Given the description of an element on the screen output the (x, y) to click on. 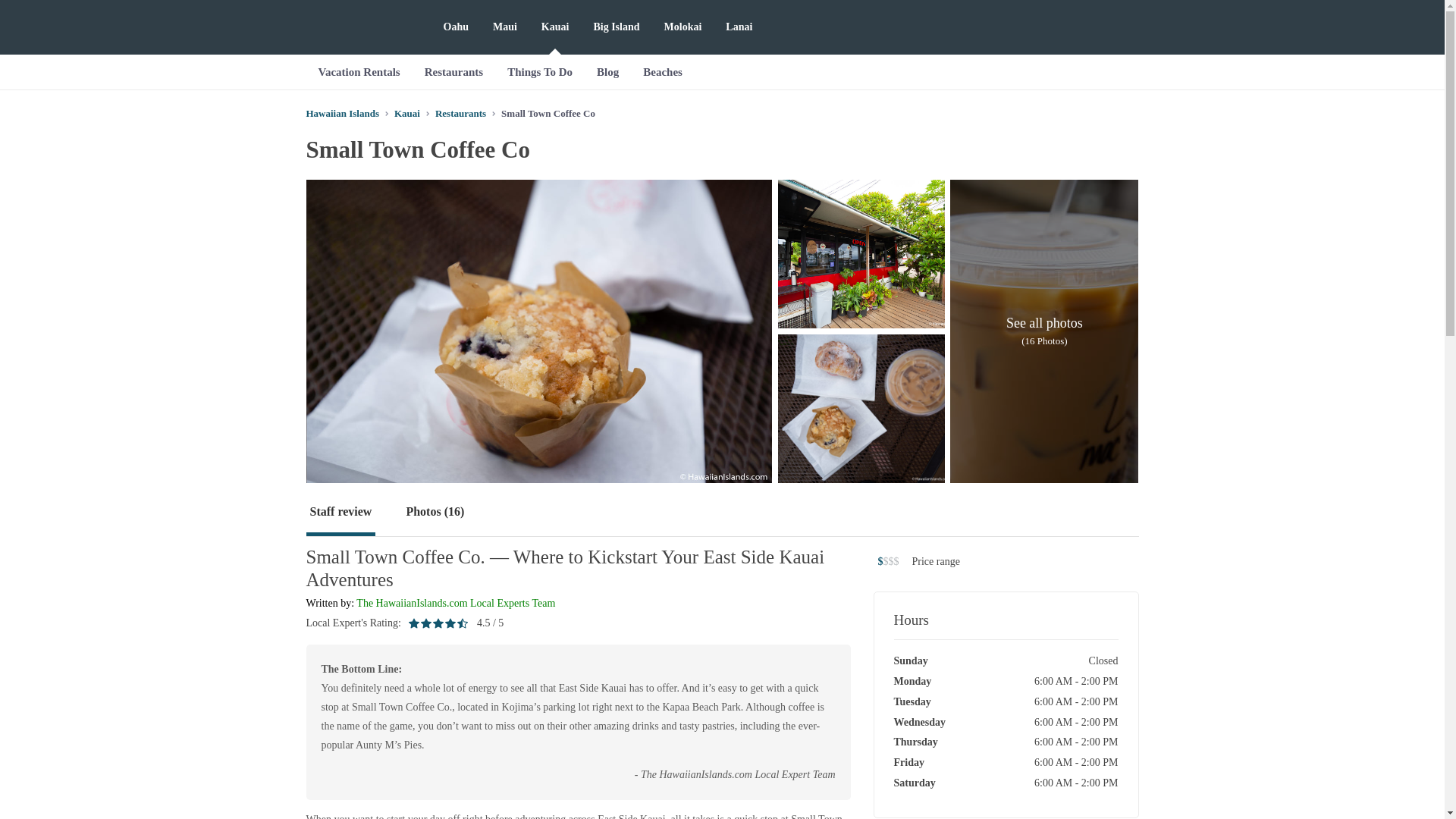
Restaurants (460, 112)
Things To Do (540, 71)
Hawaiian Islands (341, 112)
Vacation Rentals (358, 71)
Original Photo (860, 408)
Kauai (407, 112)
Restaurants (454, 71)
Blog (607, 71)
Original Photo (860, 253)
